Given the description of an element on the screen output the (x, y) to click on. 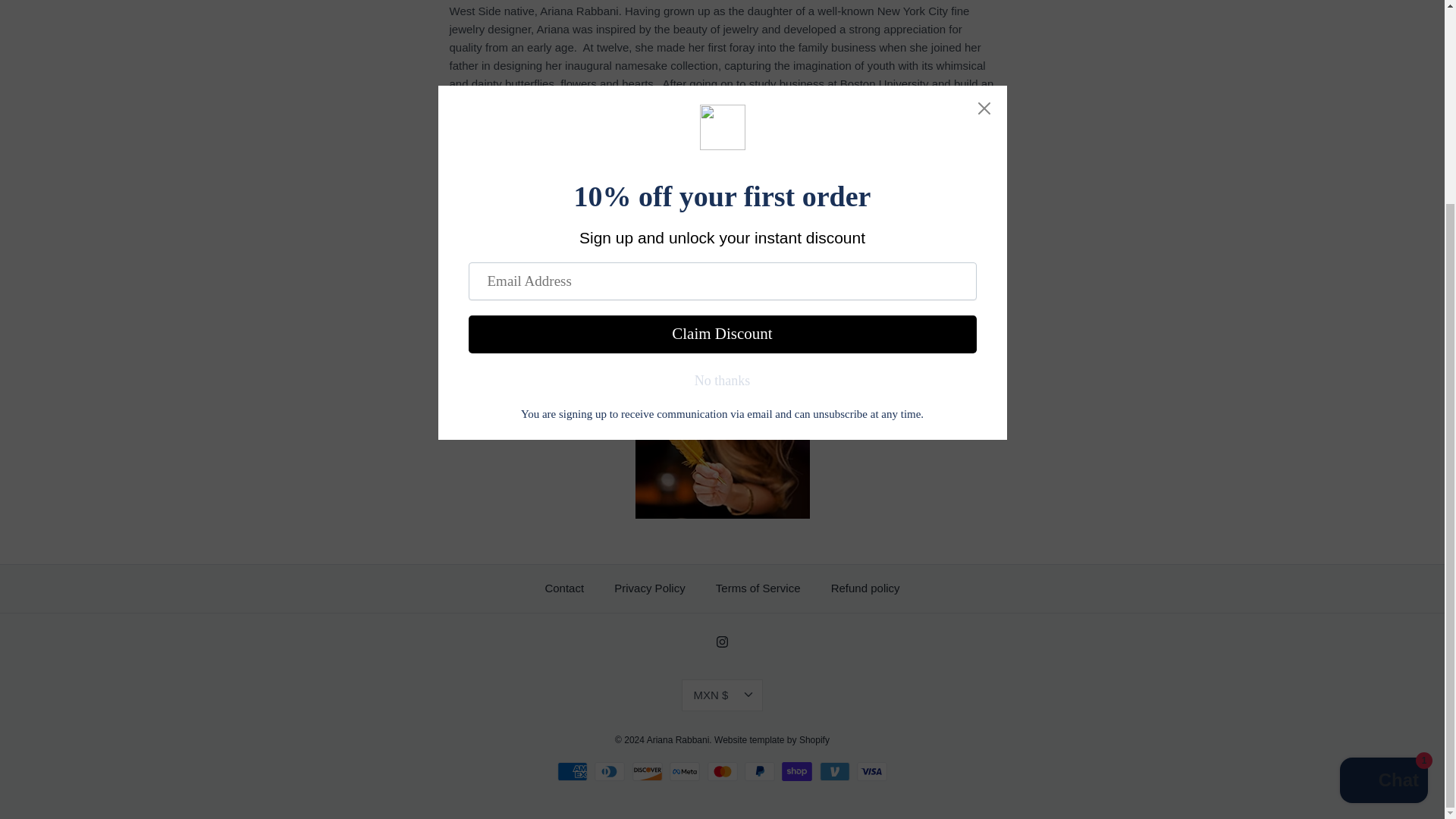
Shop Pay (796, 771)
Mastercard (721, 771)
Contact (563, 588)
Visa (871, 771)
Venmo (834, 771)
Privacy Policy (648, 588)
Diners Club (609, 771)
Discover (646, 771)
Down (748, 694)
Meta Pay (684, 771)
Terms of Service (757, 588)
PayPal (759, 771)
American Express (572, 771)
Shopify online store chat (1383, 520)
Instagram (722, 641)
